Given the description of an element on the screen output the (x, y) to click on. 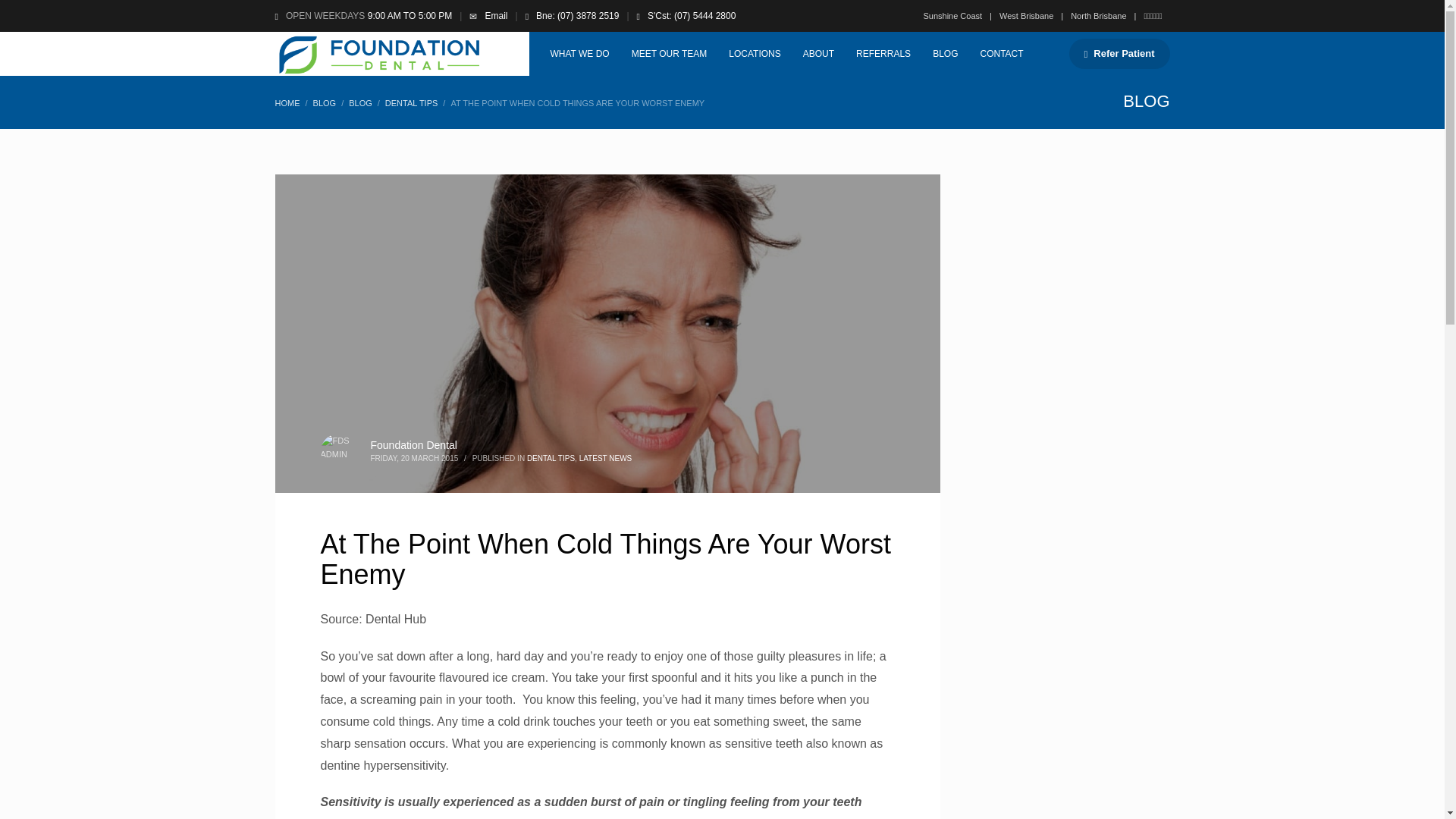
WHAT WE DO (578, 53)
Email (495, 15)
BLOG (944, 53)
LOCATIONS (754, 53)
Gravatar for Foundation Dental (337, 451)
OUR TEAM (669, 53)
CONTACT (1001, 53)
REFERRALS (883, 53)
Sunshine Coast (952, 15)
West Brisbane (1021, 15)
